Given the description of an element on the screen output the (x, y) to click on. 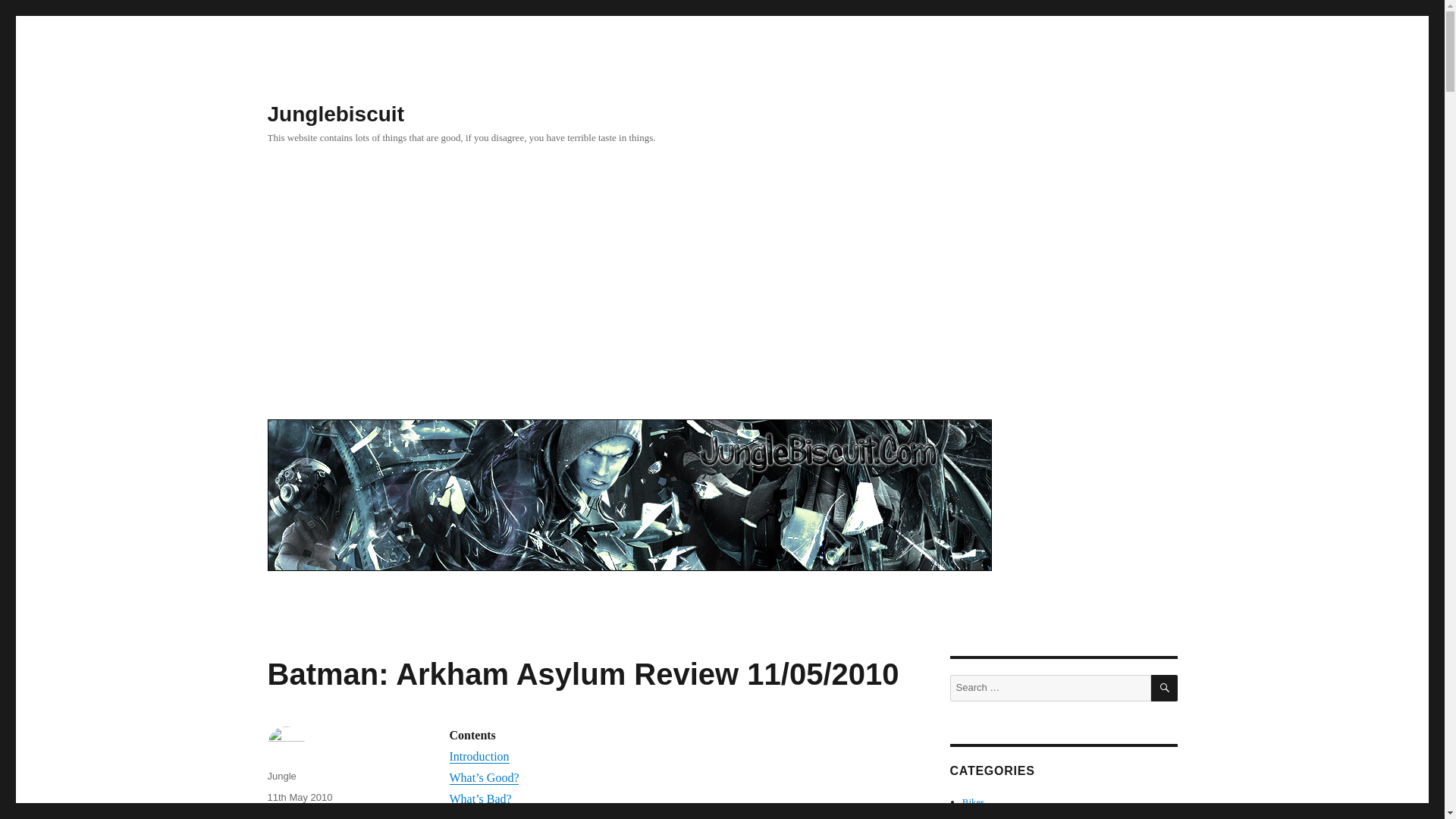
Dayz (972, 815)
Introduction (478, 756)
Jungle (280, 776)
Gaming (283, 816)
Gaming Reviews (344, 816)
Junglebiscuit (334, 114)
Bikes (973, 801)
Conclusion (475, 816)
11th May 2010 (298, 797)
SEARCH (1164, 687)
